Given the description of an element on the screen output the (x, y) to click on. 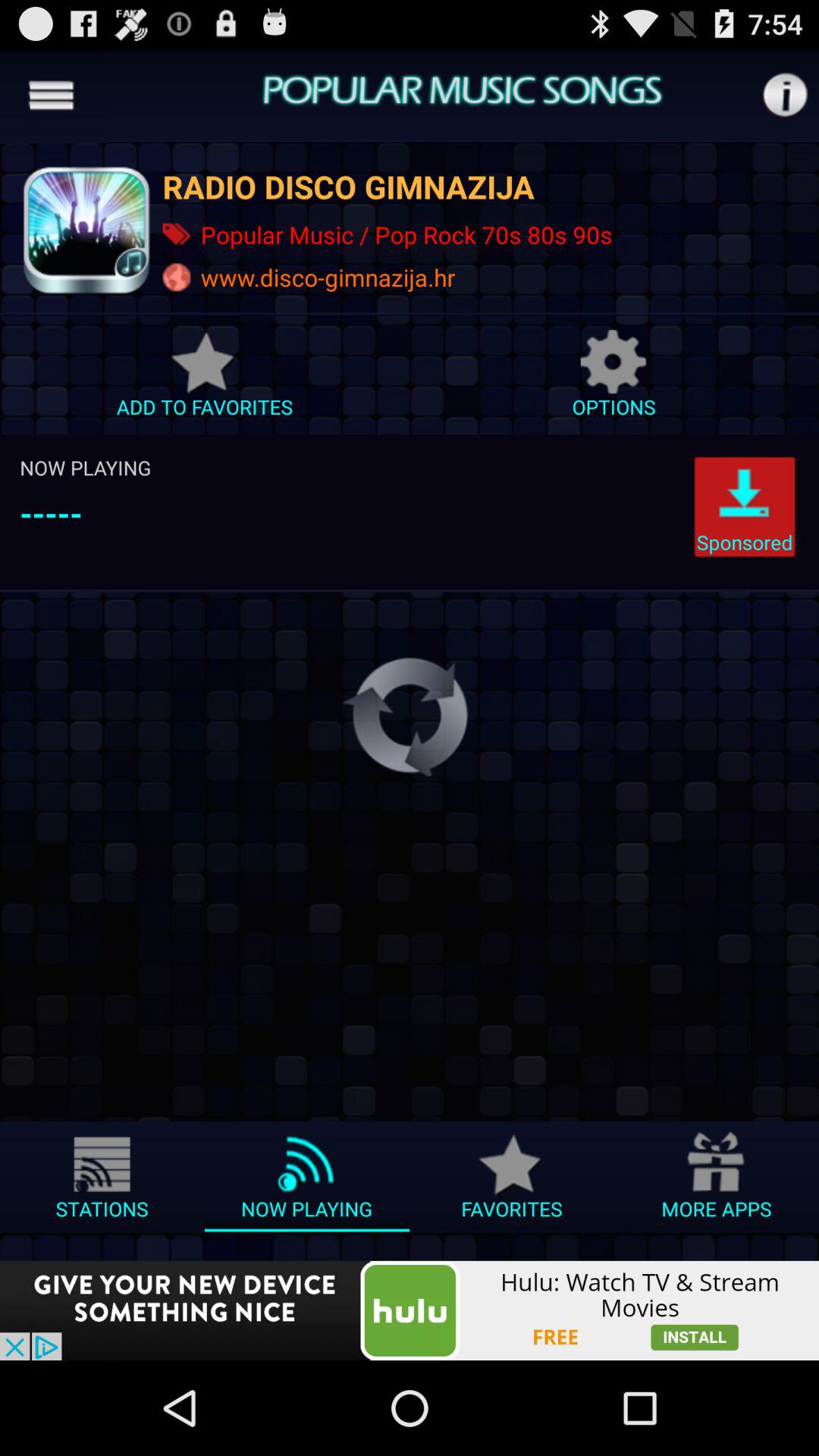
click to the more detail (784, 95)
